Given the description of an element on the screen output the (x, y) to click on. 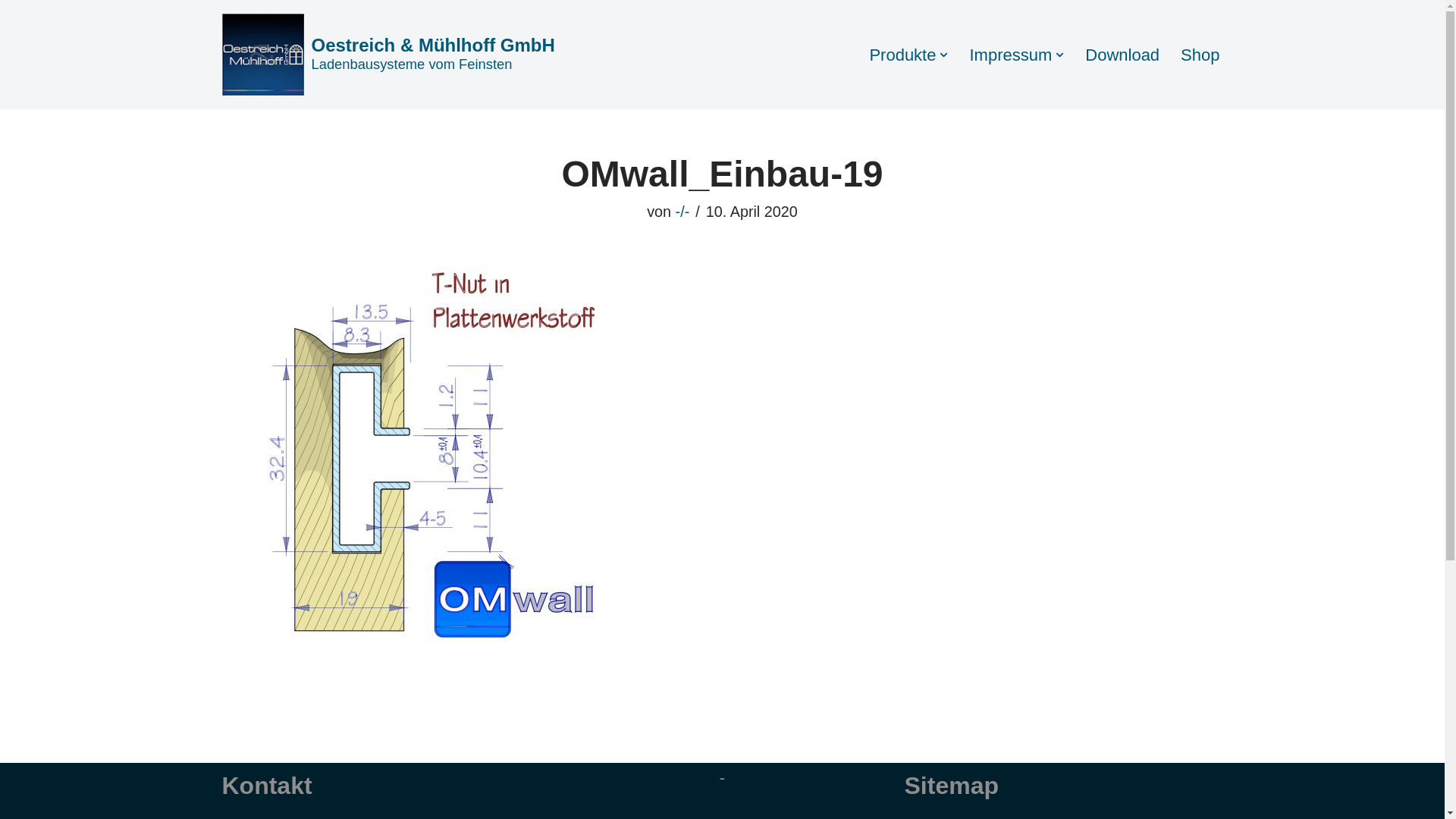
Produkte Element type: text (902, 54)
Shop Element type: text (1199, 54)
Download Element type: text (1122, 54)
Zum Inhalt springen Element type: text (11, 31)
-/- Element type: text (682, 211)
Impressum Element type: text (1010, 54)
